Given the description of an element on the screen output the (x, y) to click on. 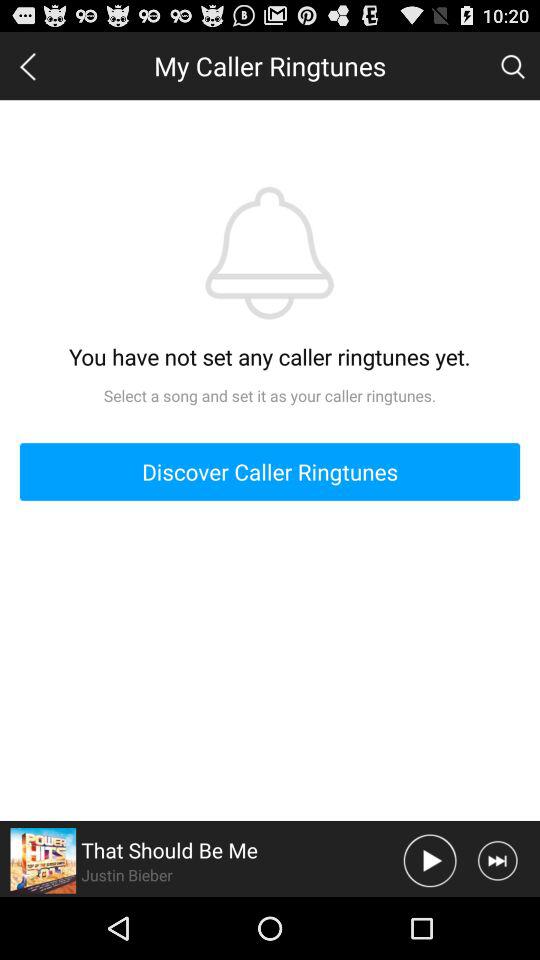
view artist (43, 860)
